Given the description of an element on the screen output the (x, y) to click on. 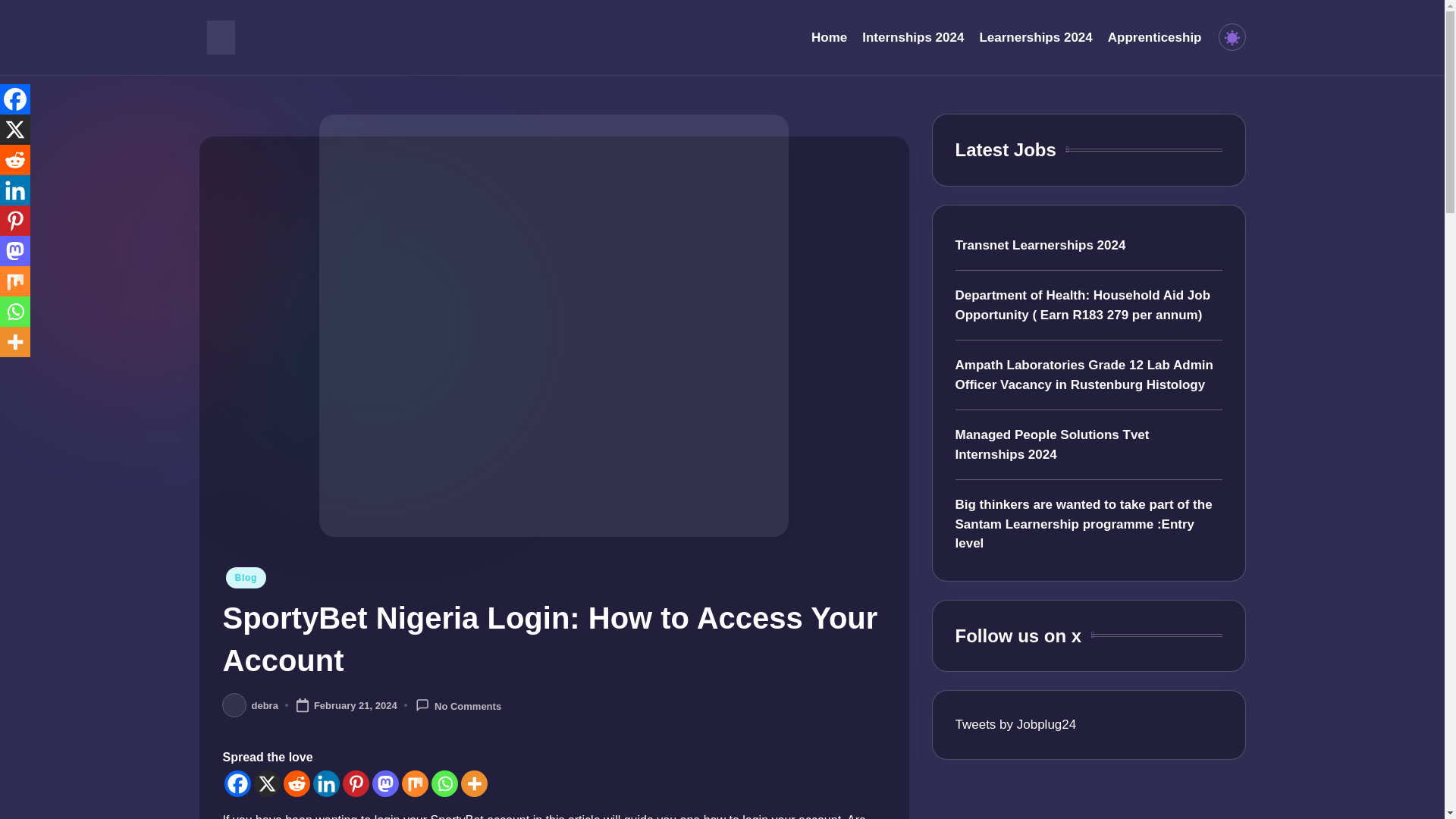
X (266, 783)
Mastodon (384, 783)
Apprenticeship (1155, 37)
Learnerships 2024 (1035, 37)
Reddit (296, 783)
Linkedin (326, 783)
More (474, 783)
Internships 2024 (912, 37)
No Comments (457, 705)
Facebook (237, 783)
